Given the description of an element on the screen output the (x, y) to click on. 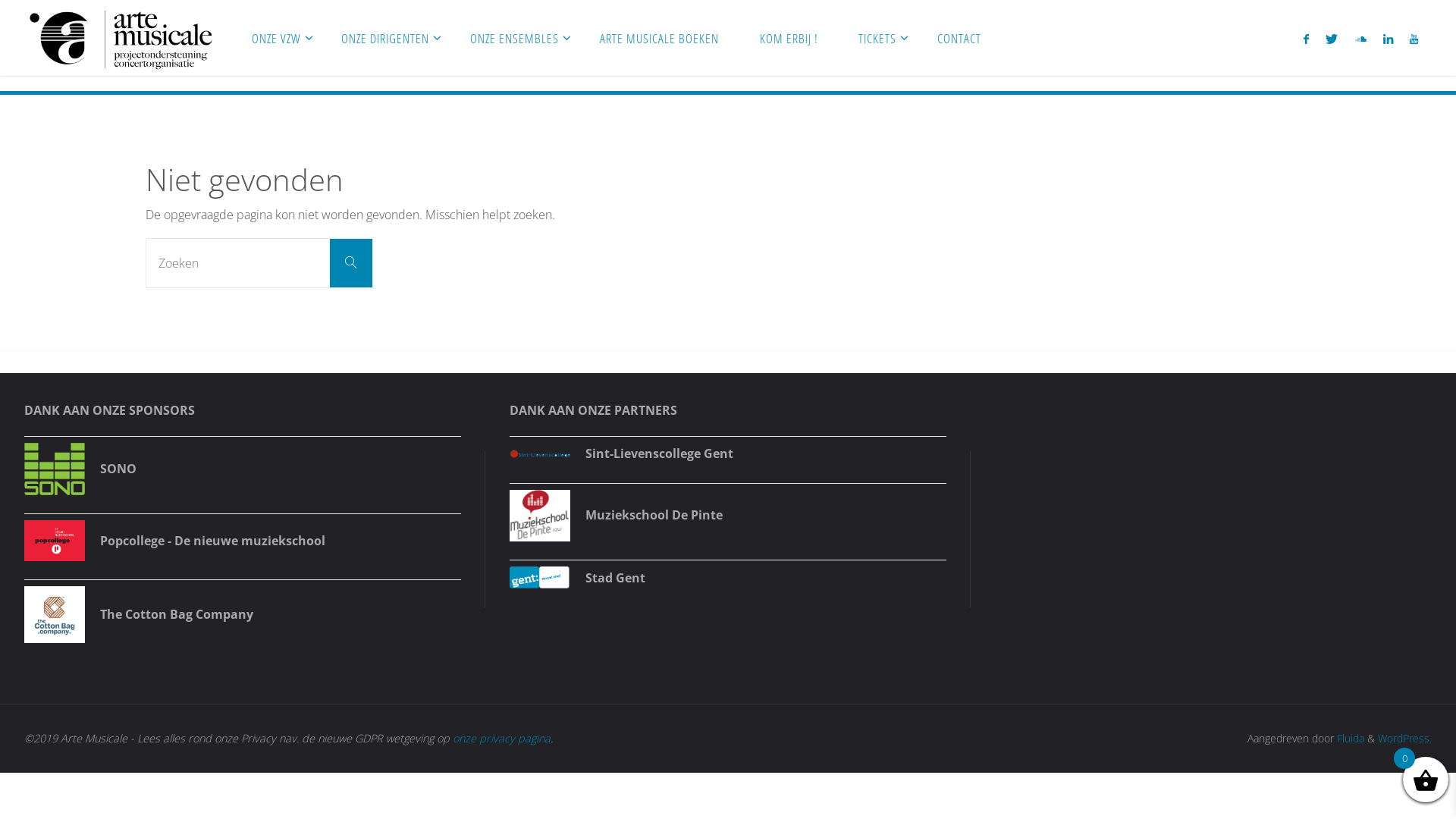
CONTACT Element type: text (958, 37)
Projectondersteuning & Concertorganisatie Element type: hover (238, 119)
Linkedin Element type: hover (1387, 38)
Facebook Element type: hover (1306, 38)
YouTube Element type: hover (1413, 38)
Soundcloud Element type: hover (1360, 38)
Twitter Element type: hover (1331, 38)
Fluida Element type: text (1348, 738)
ONZE VZW Element type: text (276, 37)
ONZE ENSEMBLES Element type: text (514, 37)
Zoeken Element type: text (350, 262)
ARTE MUSICALE BOEKEN Element type: text (659, 37)
ONZE DIRIGENTEN Element type: text (385, 37)
WordPress. Element type: text (1404, 738)
TICKETS Element type: text (877, 37)
onze privacy pagina Element type: text (501, 738)
Arte Musicale Element type: hover (120, 37)
KOM ERBIJ ! Element type: text (788, 37)
